Given the description of an element on the screen output the (x, y) to click on. 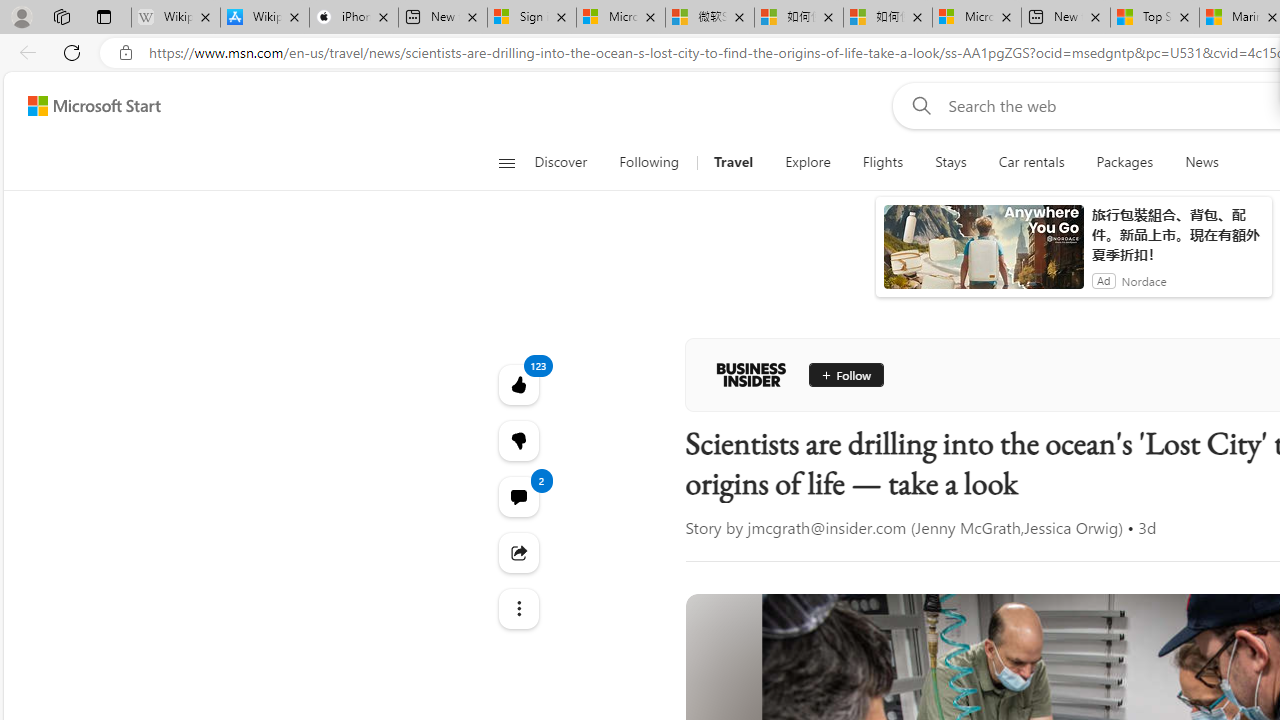
Travel (733, 162)
Share this story (517, 552)
Follow (837, 374)
Flights (882, 162)
Car rentals (1031, 162)
Class: button-glyph (505, 162)
